Given the description of an element on the screen output the (x, y) to click on. 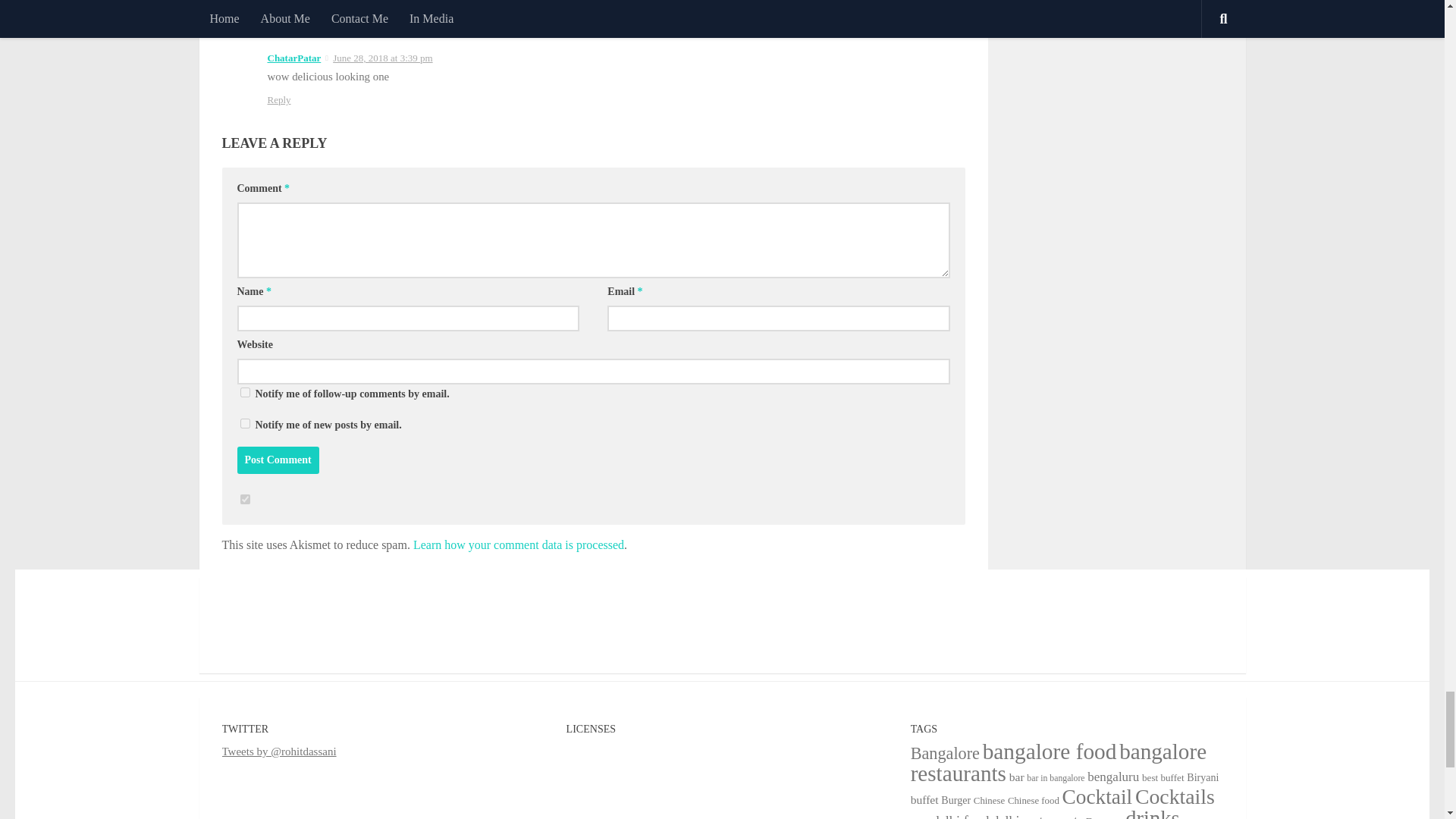
Post Comment (276, 460)
subscribe (244, 423)
subscribe (244, 392)
on (244, 499)
